Given the description of an element on the screen output the (x, y) to click on. 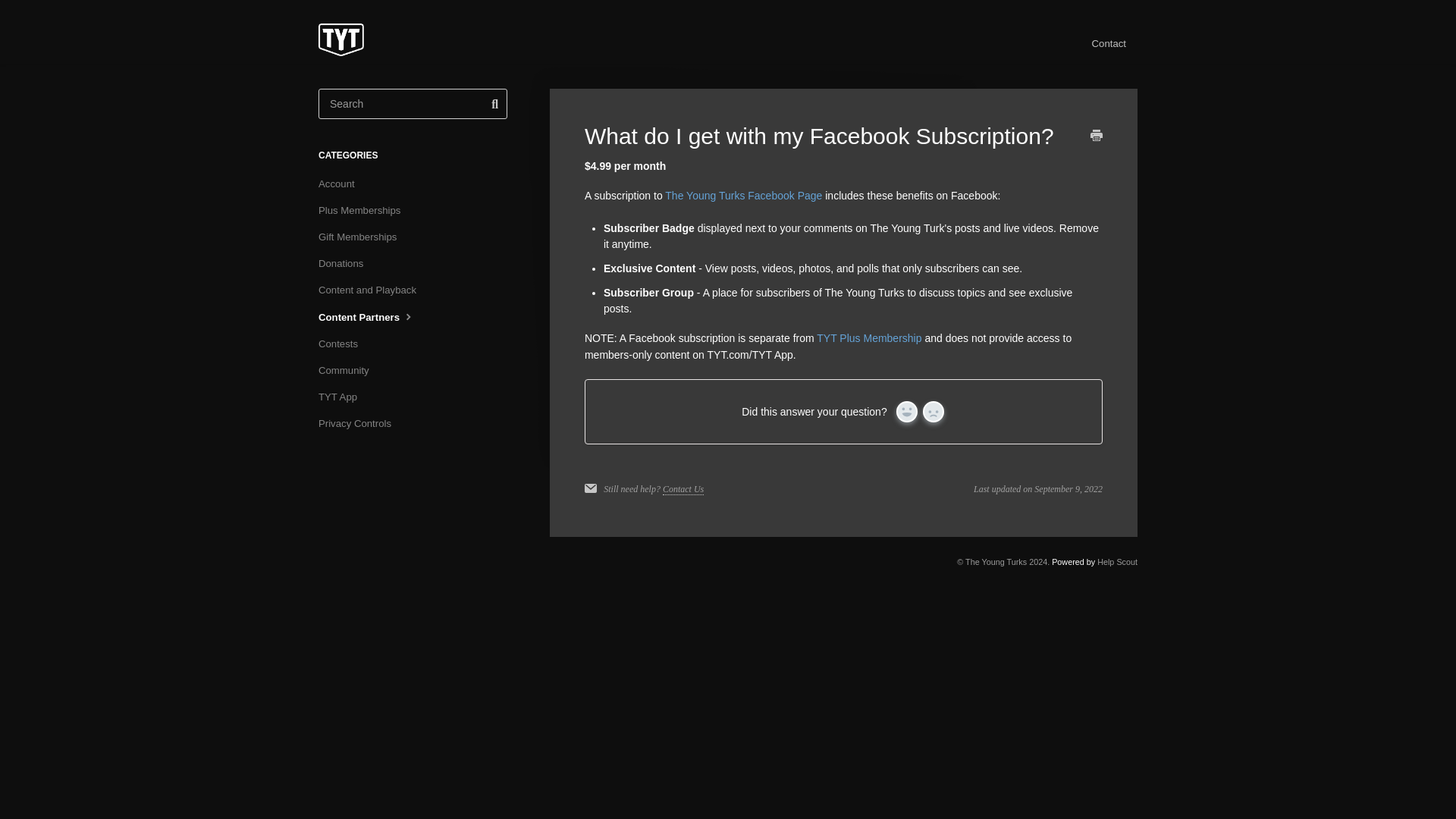
Gift Memberships (362, 237)
Contact Us (682, 489)
TYT App (343, 396)
Yes (906, 411)
Account (342, 183)
Plus Memberships (365, 210)
Contact (1108, 43)
Contests (343, 344)
Content and Playback (373, 290)
TYT Plus Membership (868, 337)
search-query (412, 103)
Privacy Controls (360, 423)
The Young Turks Facebook Page (743, 195)
No (933, 411)
Help Scout (1117, 561)
